Given the description of an element on the screen output the (x, y) to click on. 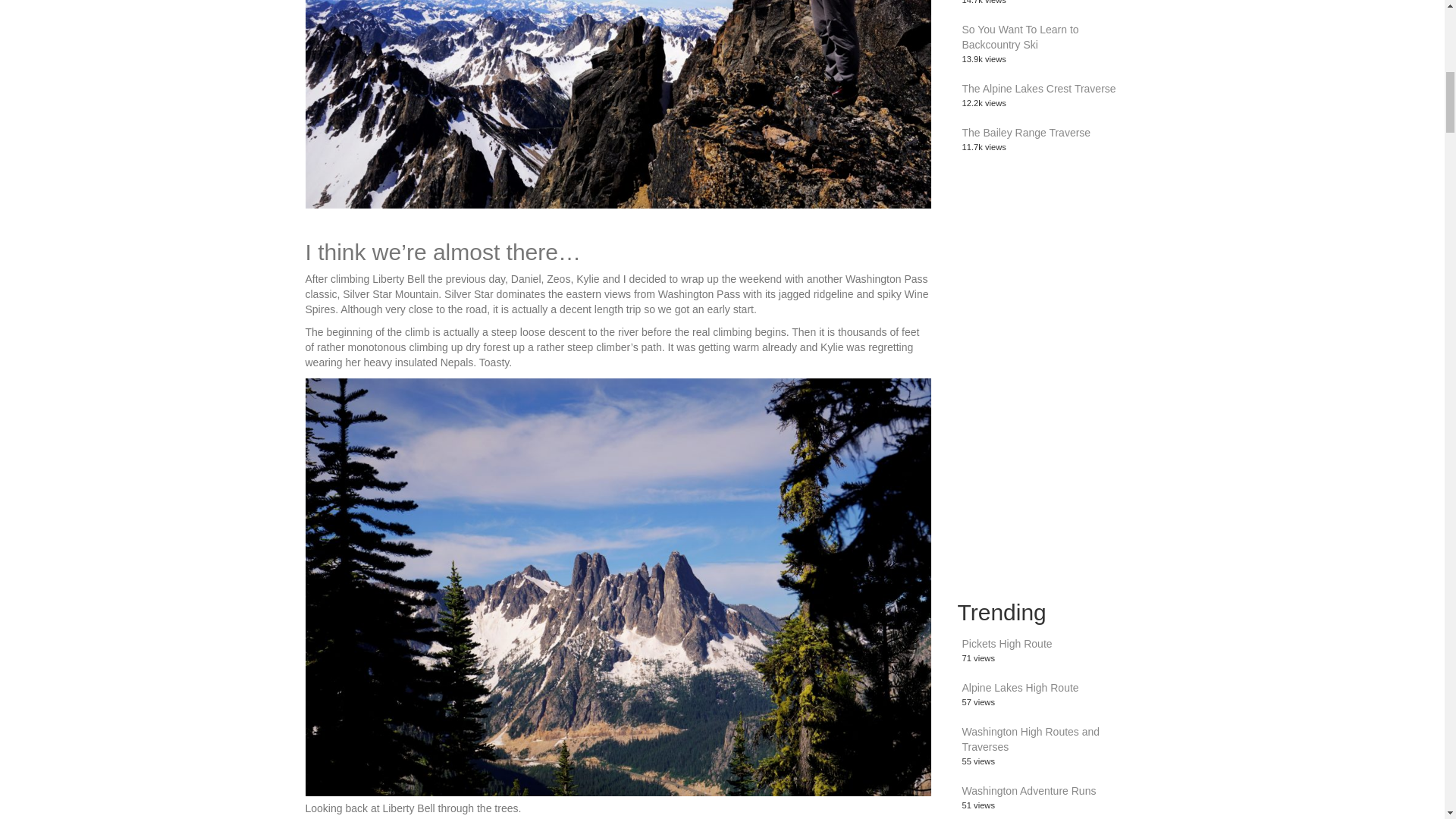
So You Want To Learn to Backcountry Ski (1019, 36)
The Alpine Lakes Crest Traverse (1037, 88)
Washington High Routes and Traverses (1029, 738)
The Bailey Range Traverse (1025, 132)
Pickets High Route (1005, 644)
Alpine Lakes High Route (1019, 687)
Washington Adventure Runs (1028, 790)
